Given the description of an element on the screen output the (x, y) to click on. 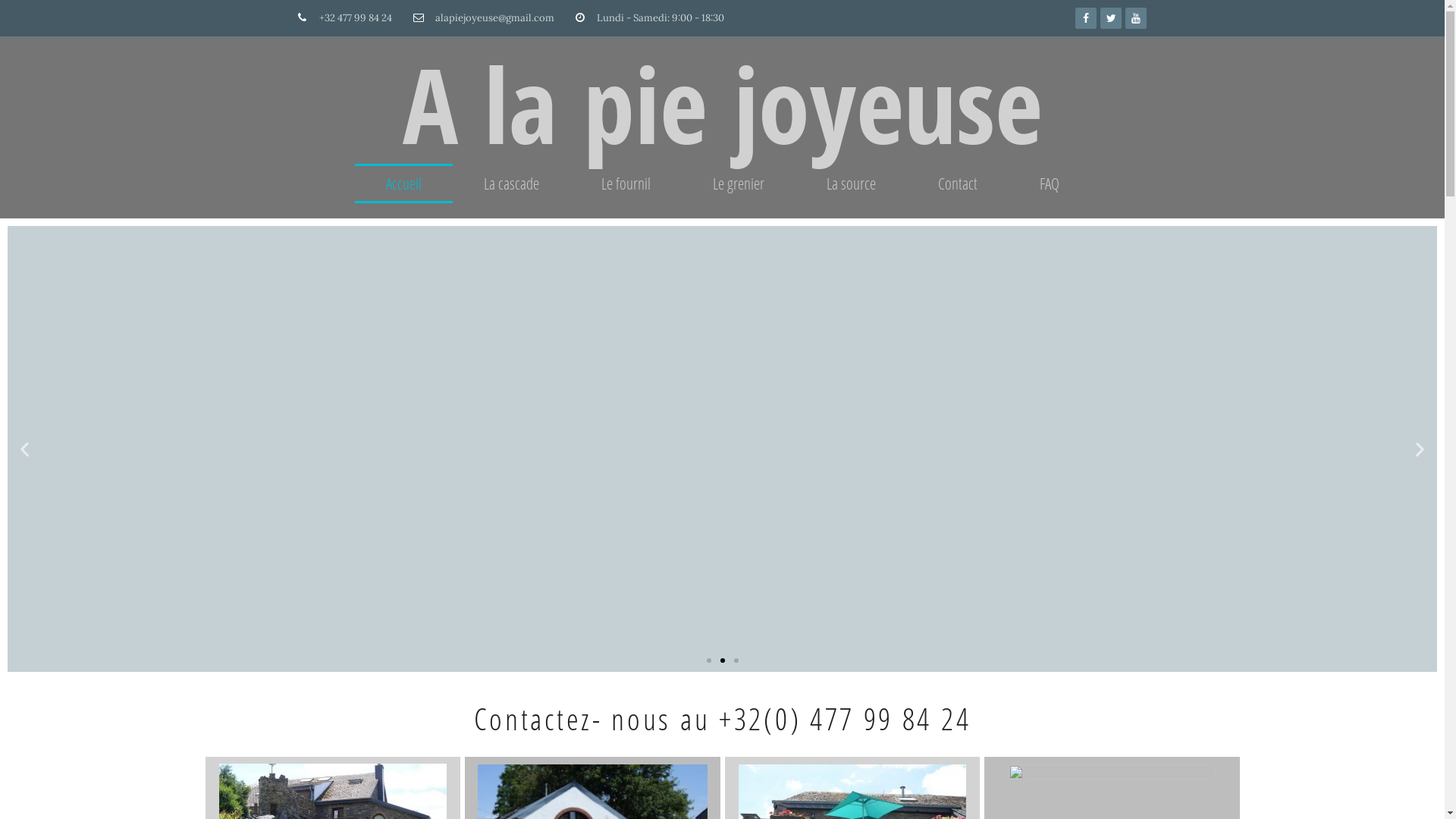
FAQ Element type: text (1049, 183)
+32 477 99 84 24 Element type: text (344, 17)
Accueil Element type: text (403, 183)
A la pie joyeuse Element type: text (721, 103)
Le grenier Element type: text (737, 183)
alapiejoyeuse@gmail.com Element type: text (483, 17)
Le fournil Element type: text (625, 183)
La source Element type: text (850, 183)
La cascade Element type: text (510, 183)
Contact Element type: text (957, 183)
